Given the description of an element on the screen output the (x, y) to click on. 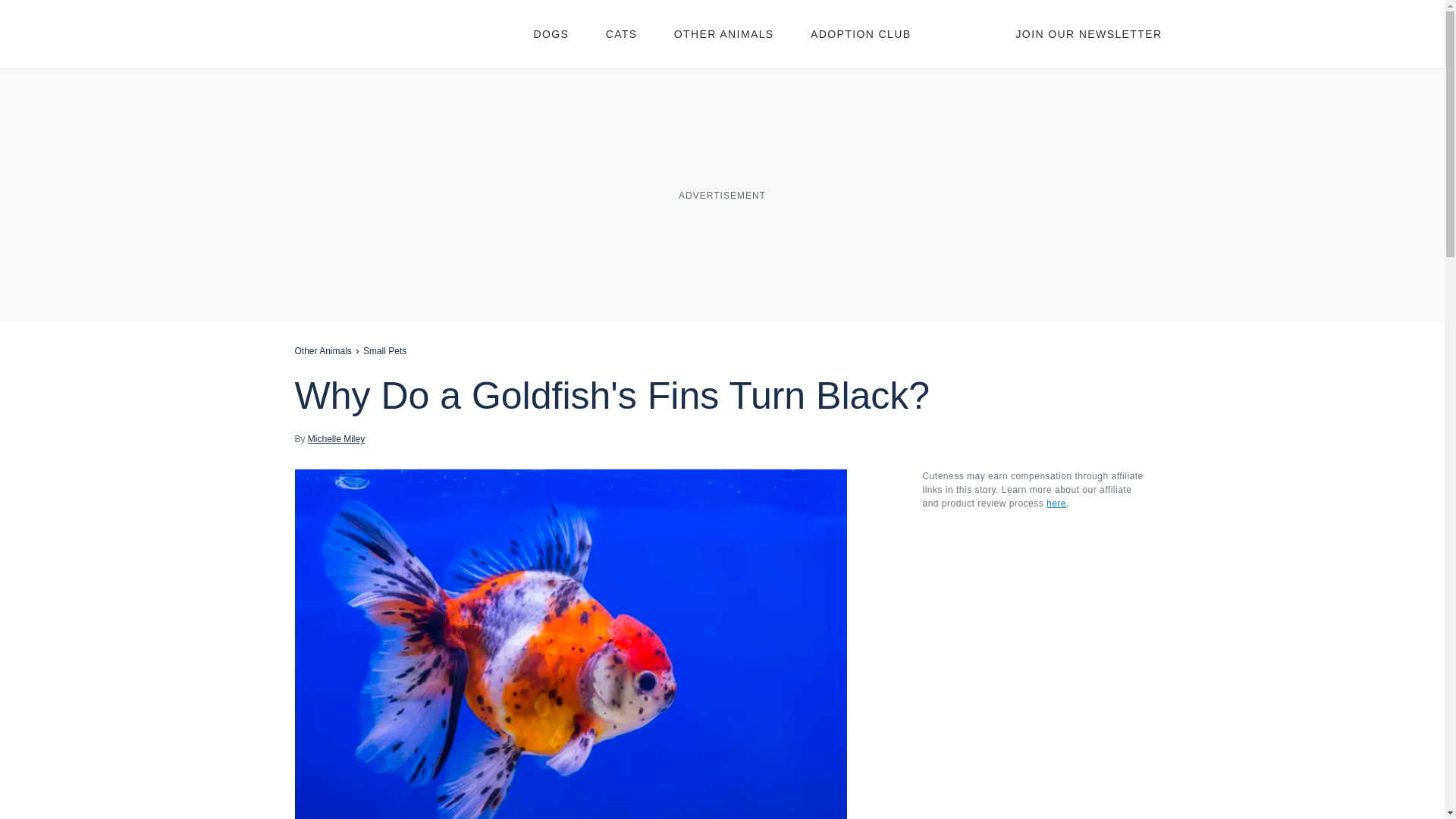
Other Animals (322, 350)
Small Pets (384, 350)
Michelle Miley (336, 438)
Learn more about our affiliate and product review process (1055, 502)
JOIN OUR NEWSLETTER (1087, 33)
ADOPTION CLUB (860, 33)
